Given the description of an element on the screen output the (x, y) to click on. 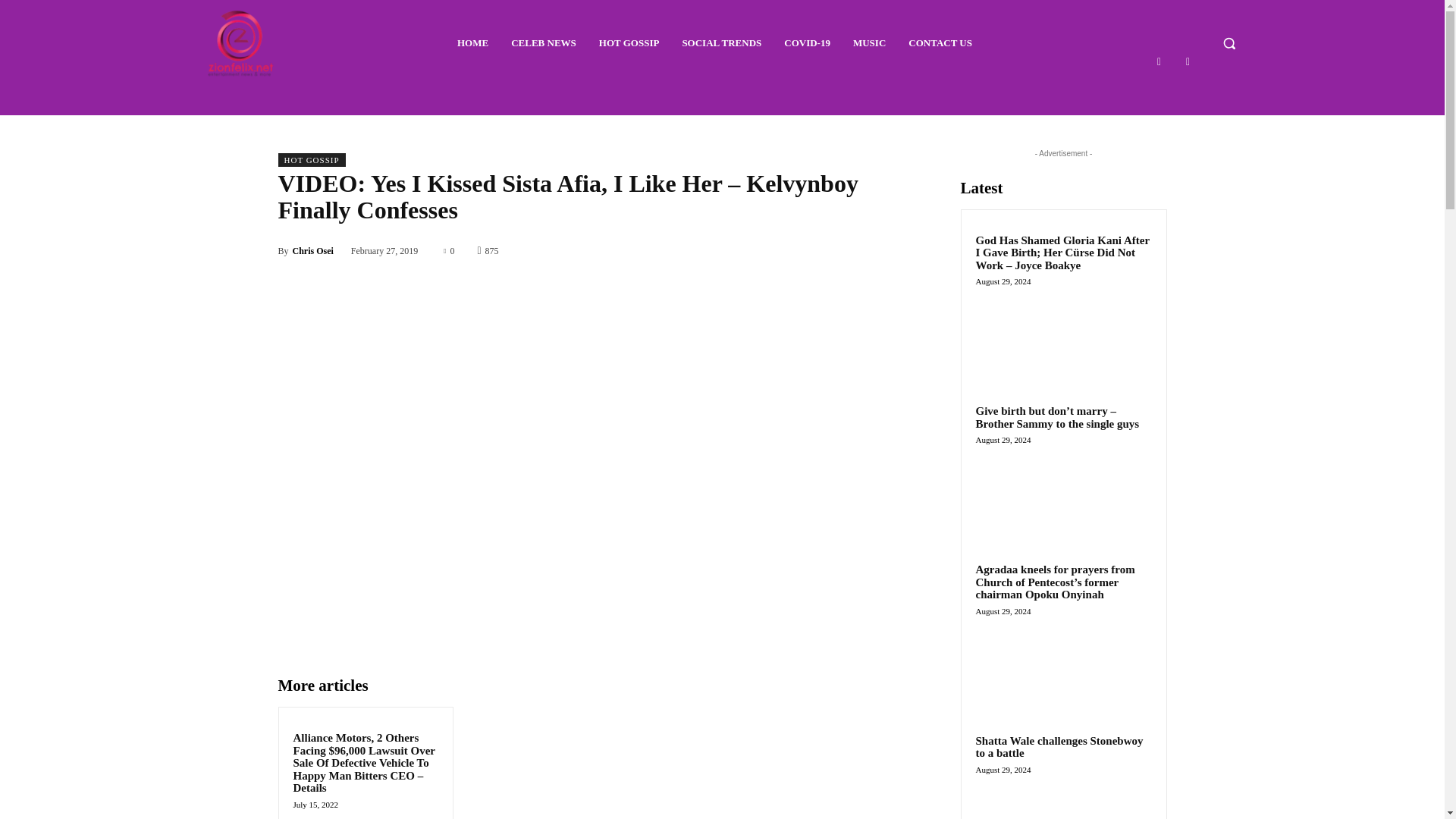
COVID-19 (807, 42)
MUSIC (869, 42)
Facebook (1158, 61)
Chris Osei (312, 250)
HOME (472, 42)
CELEB NEWS (543, 42)
HOT GOSSIP (311, 160)
CONTACT US (940, 42)
HOT GOSSIP (628, 42)
SOCIAL TRENDS (721, 42)
